Given the description of an element on the screen output the (x, y) to click on. 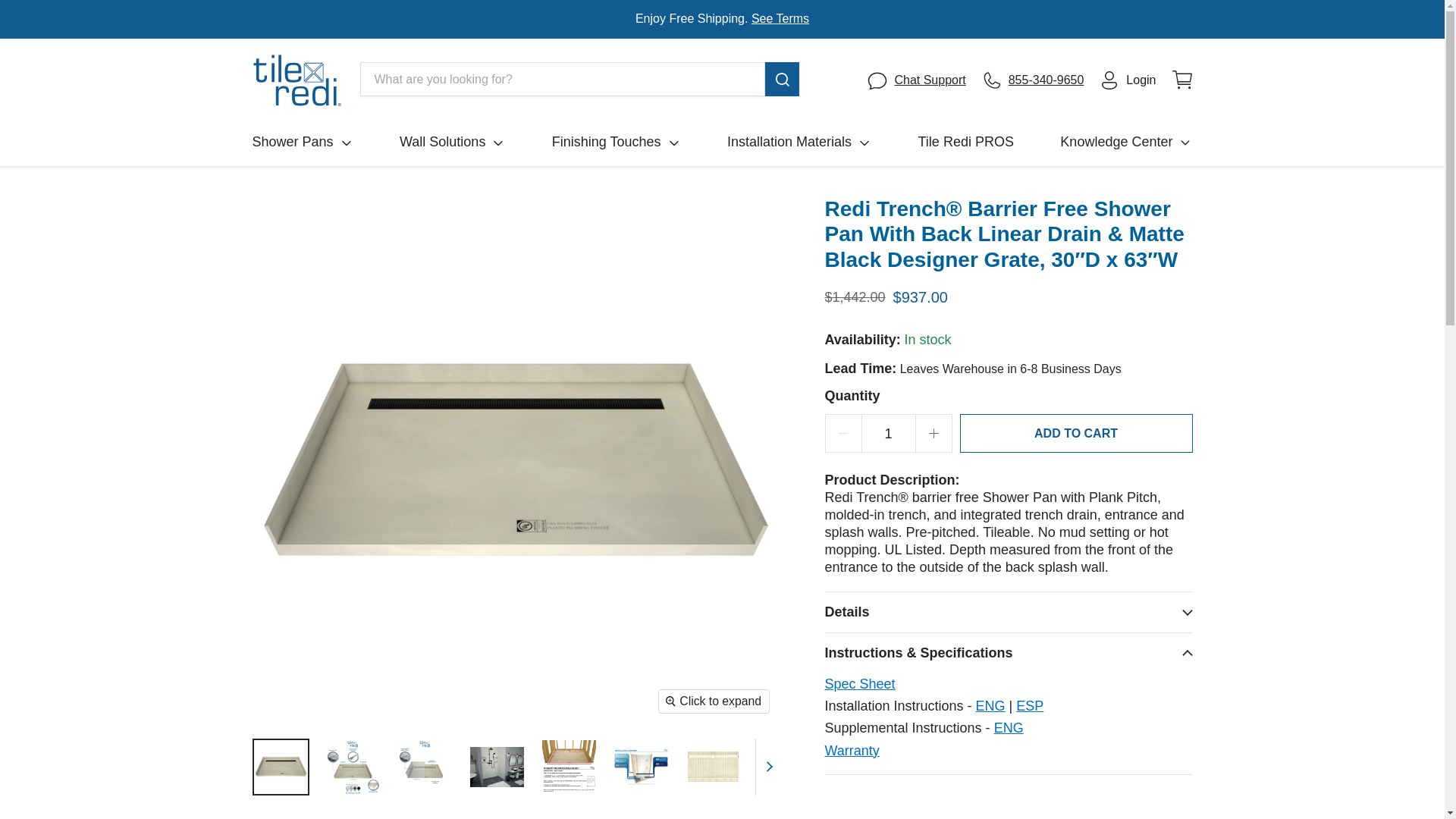
855-340-9650 (1032, 79)
Login (1127, 79)
Chat Support (915, 79)
1 (888, 433)
See Terms (780, 18)
